Given the description of an element on the screen output the (x, y) to click on. 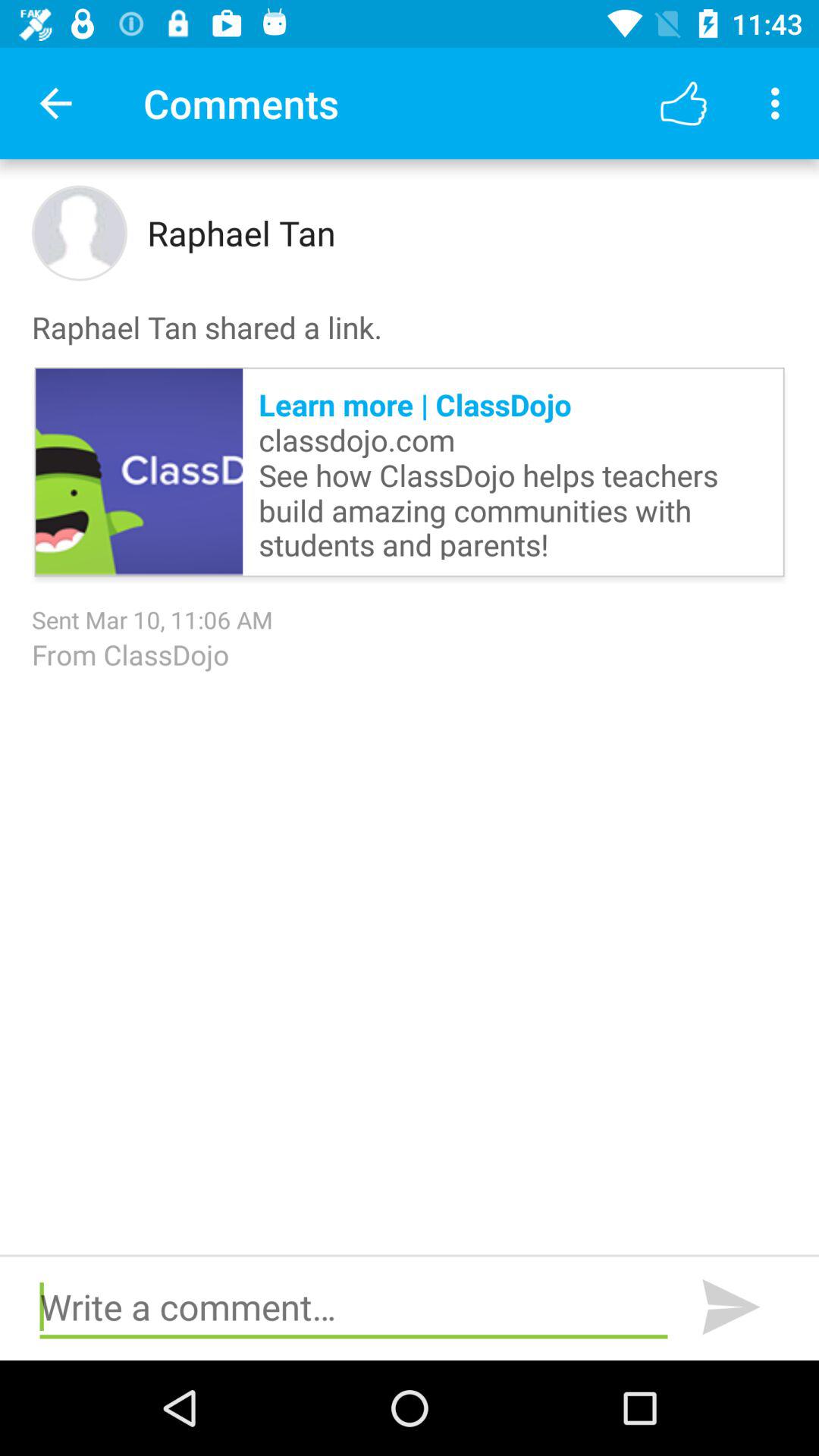
select item next to learn more classdojo item (138, 471)
